Given the description of an element on the screen output the (x, y) to click on. 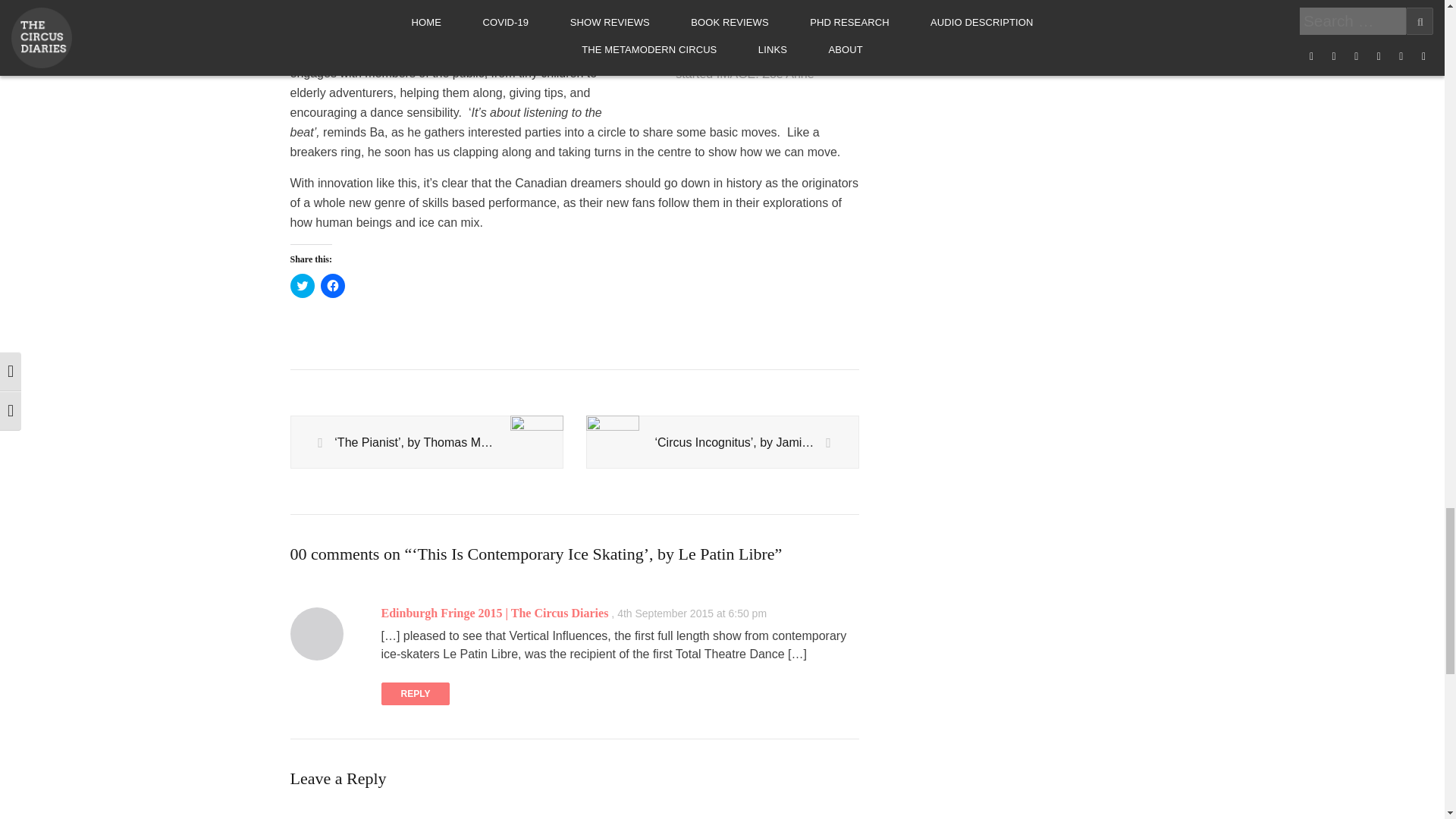
'The Pianist', by Thomas Monckton and Circo Aereo (426, 442)
Click to share on Facebook (331, 285)
Click to share on Twitter (301, 285)
